Given the description of an element on the screen output the (x, y) to click on. 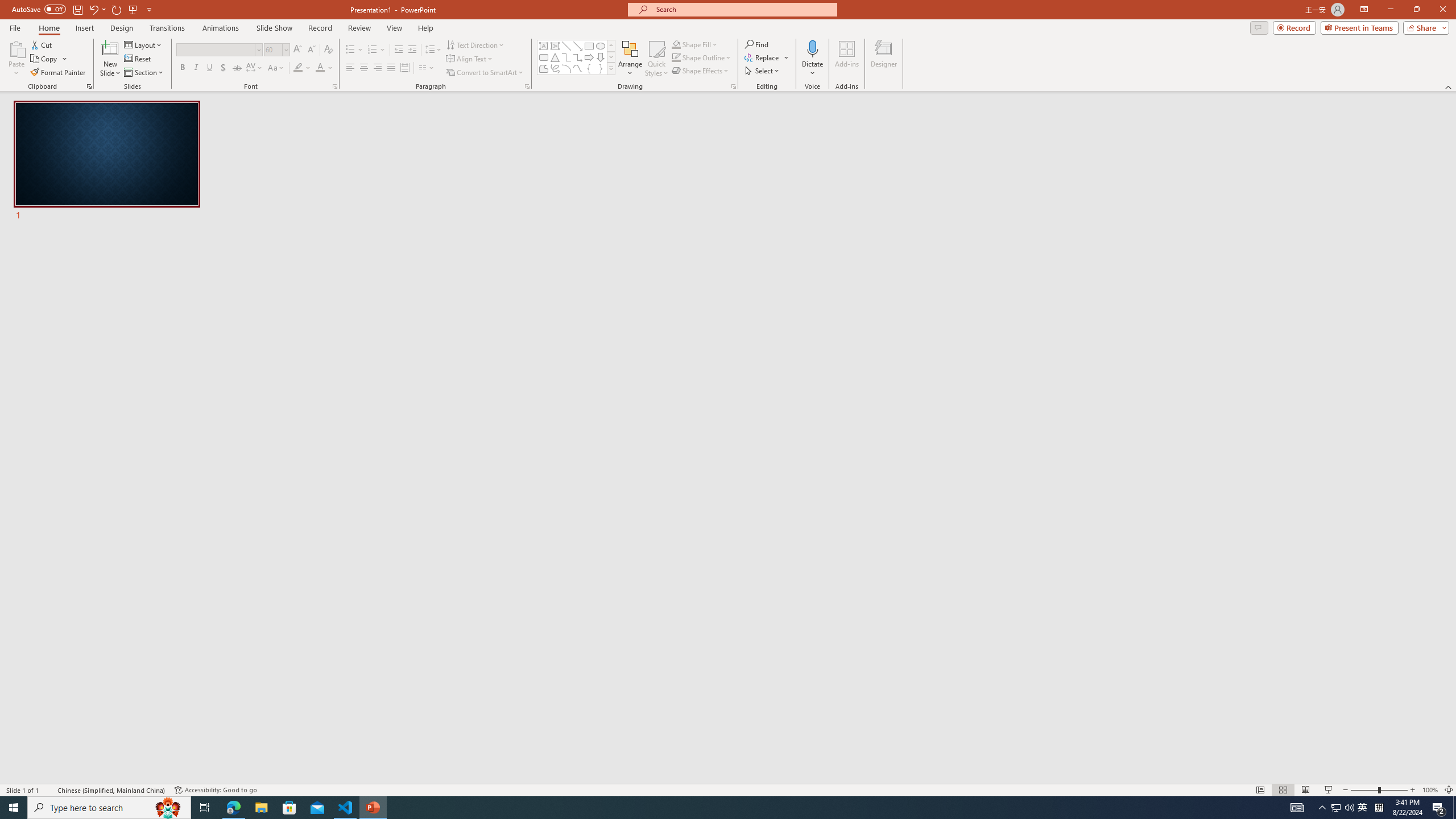
Oval (600, 45)
Arrow: Down (600, 57)
Italic (195, 67)
Shape Outline Blue, Accent 1 (675, 56)
Connector: Elbow (566, 57)
Change Case (276, 67)
Strikethrough (237, 67)
Spell Check  (49, 790)
